Given the description of an element on the screen output the (x, y) to click on. 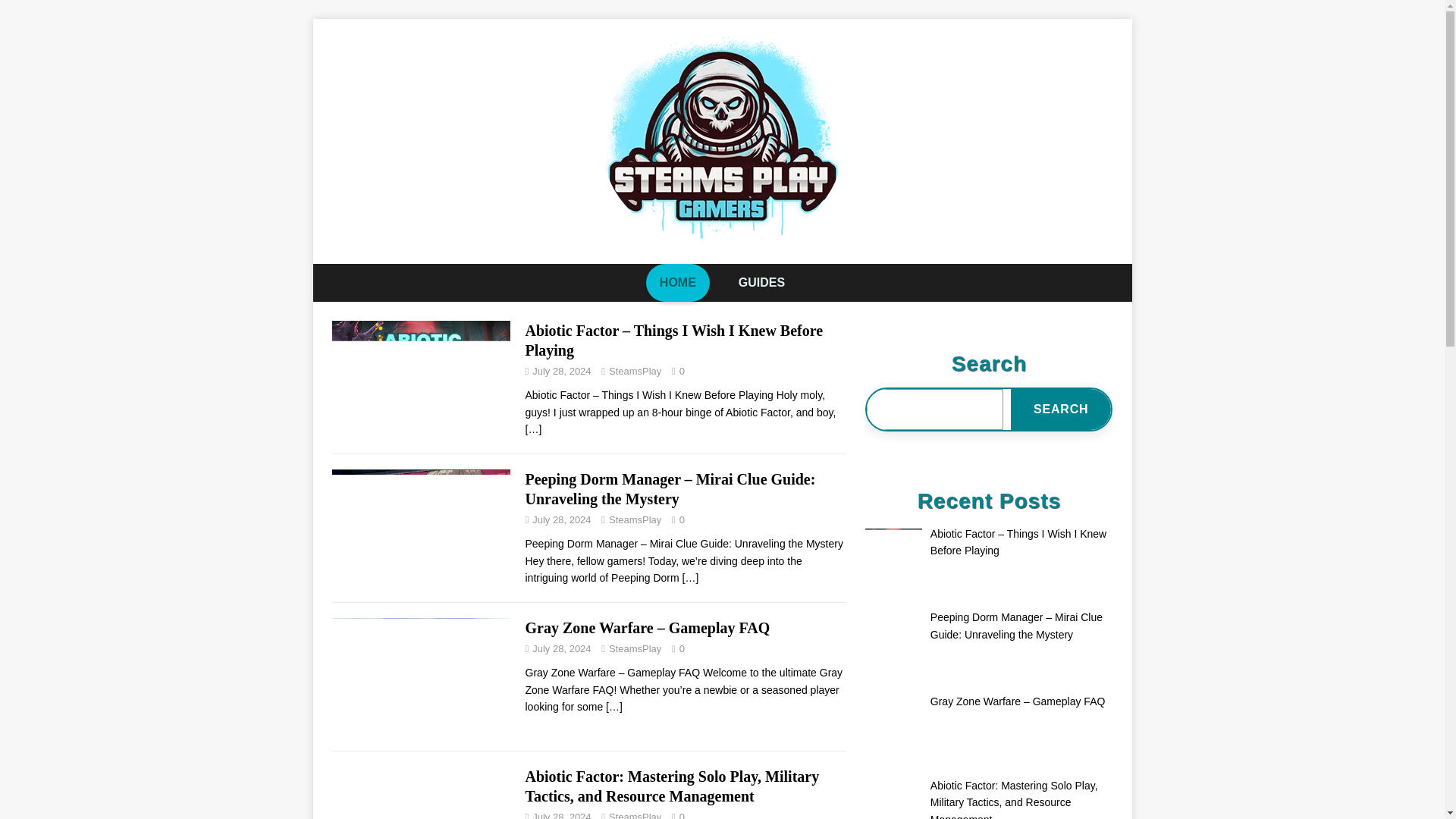
SteamsPlay (634, 648)
SteamsPlay (634, 519)
SteamsPlay (634, 815)
GUIDES (761, 282)
SteamsPlay (634, 370)
HOME (678, 282)
